Given the description of an element on the screen output the (x, y) to click on. 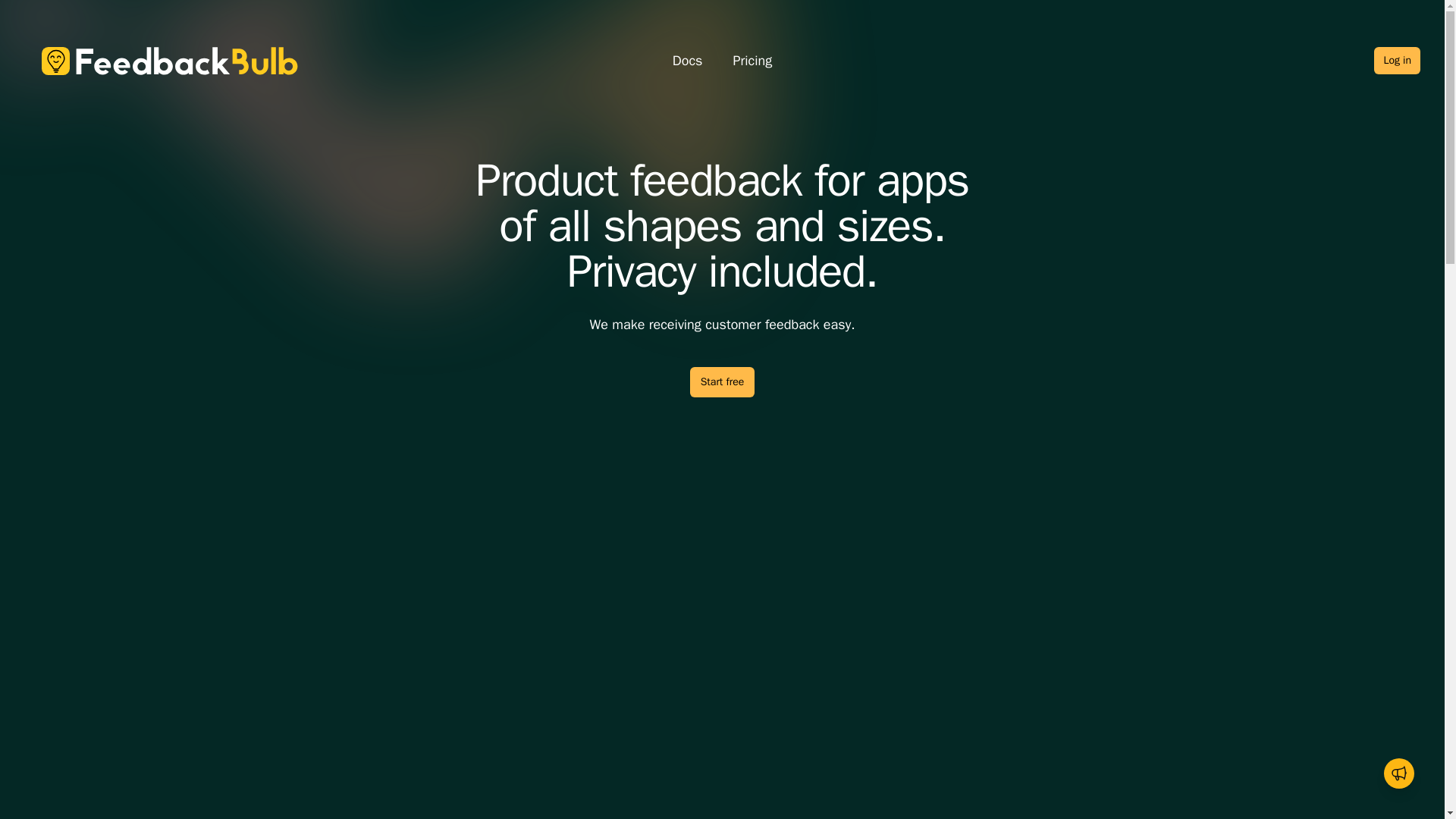
Docs (687, 60)
Pricing (751, 60)
Send feedback (1398, 773)
Start free (722, 381)
Log in (1397, 60)
